Given the description of an element on the screen output the (x, y) to click on. 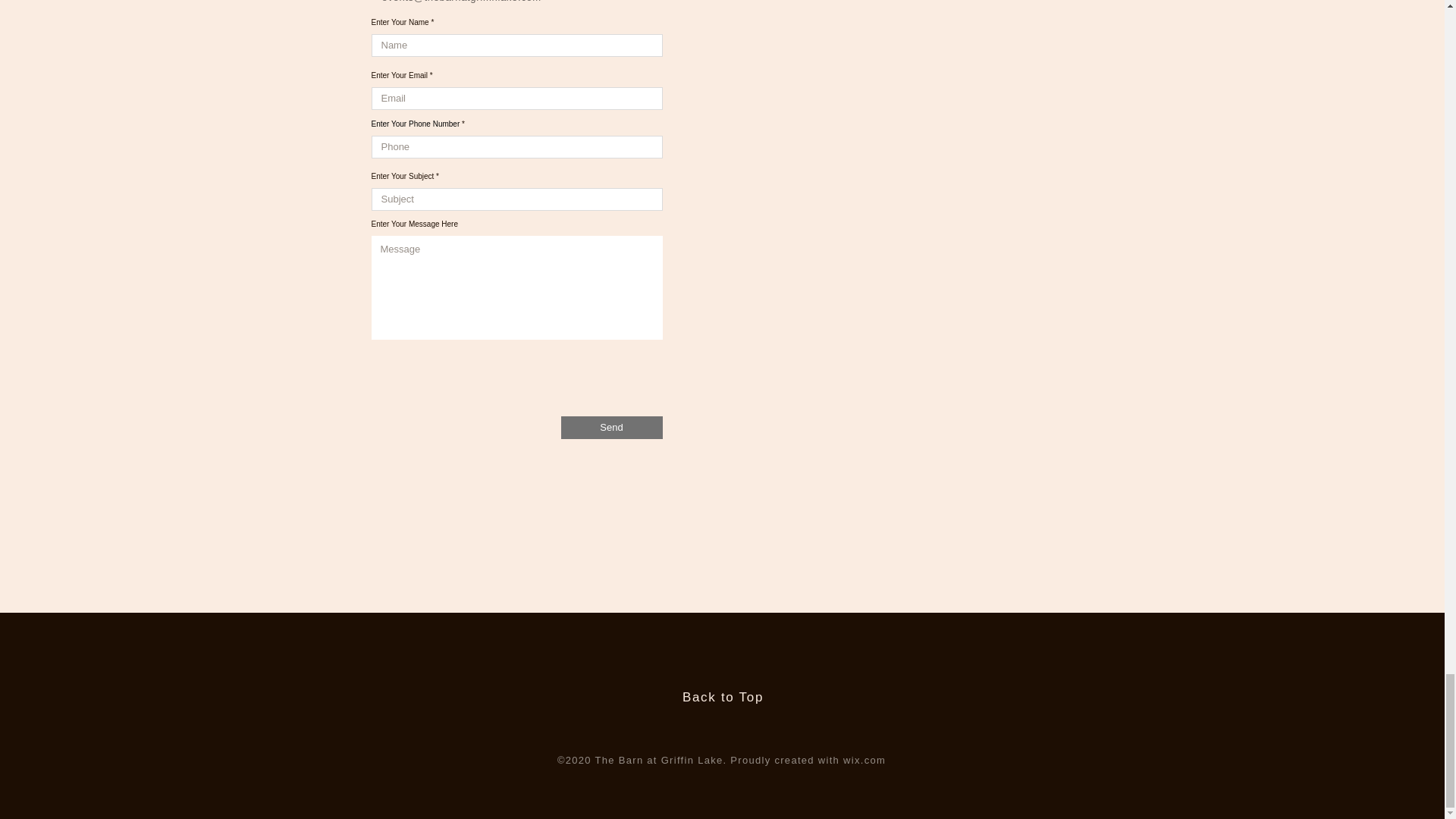
Back to Top (722, 697)
wix.com (864, 759)
Send (611, 427)
